Given the description of an element on the screen output the (x, y) to click on. 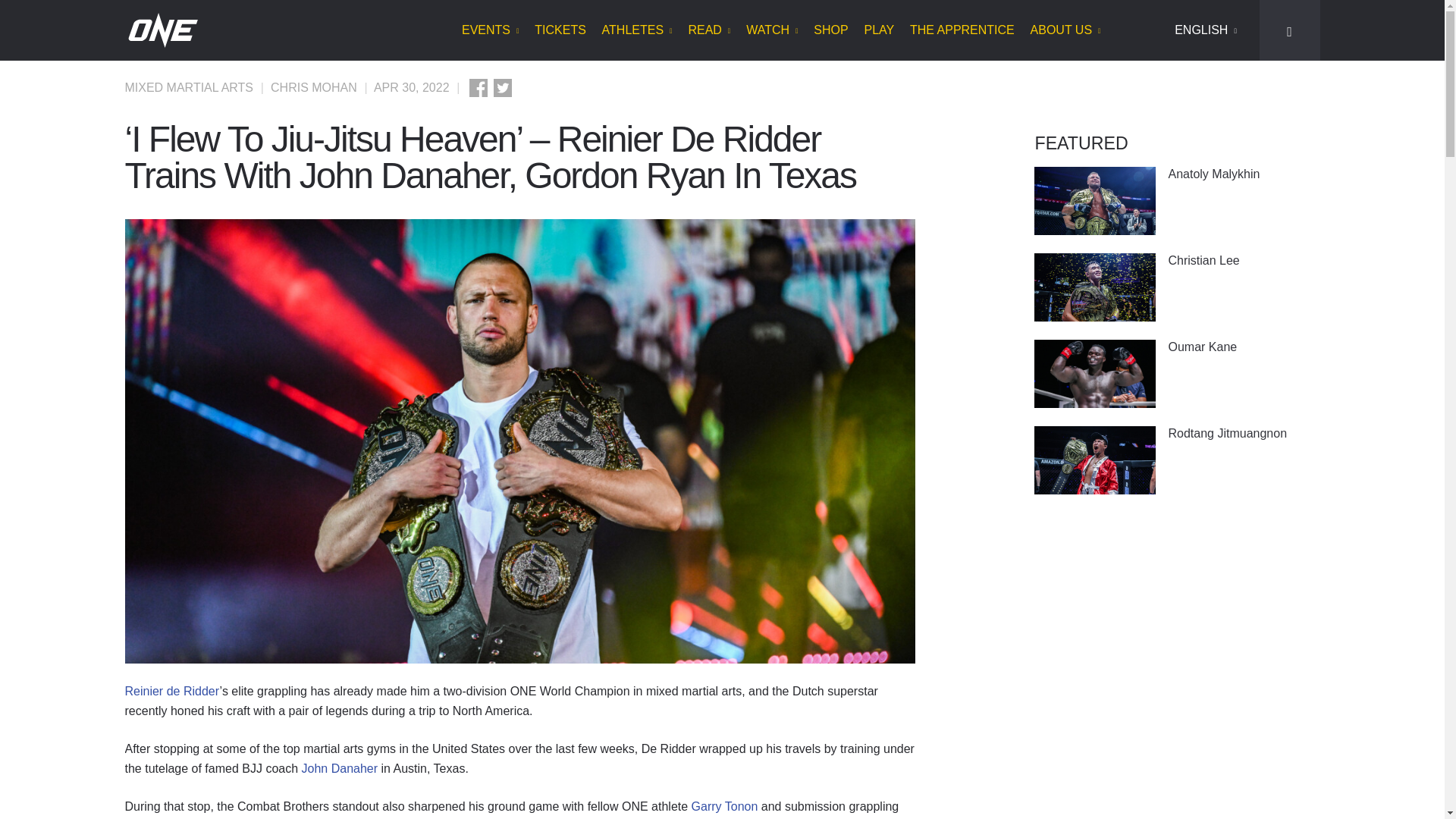
Rodtang Jitmuangnon (1243, 432)
Oumar Kane (1243, 346)
Rodtang Jitmuangnon (1094, 459)
EVENTS (490, 30)
THE APPRENTICE (962, 30)
Anatoly Malykhin (1243, 173)
ABOUT US (1065, 30)
ATHLETES (637, 30)
Oumar Kane (1094, 373)
Christian Lee (1243, 260)
Anatoly Malykhin (1094, 201)
Christian Lee (1094, 287)
